Given the description of an element on the screen output the (x, y) to click on. 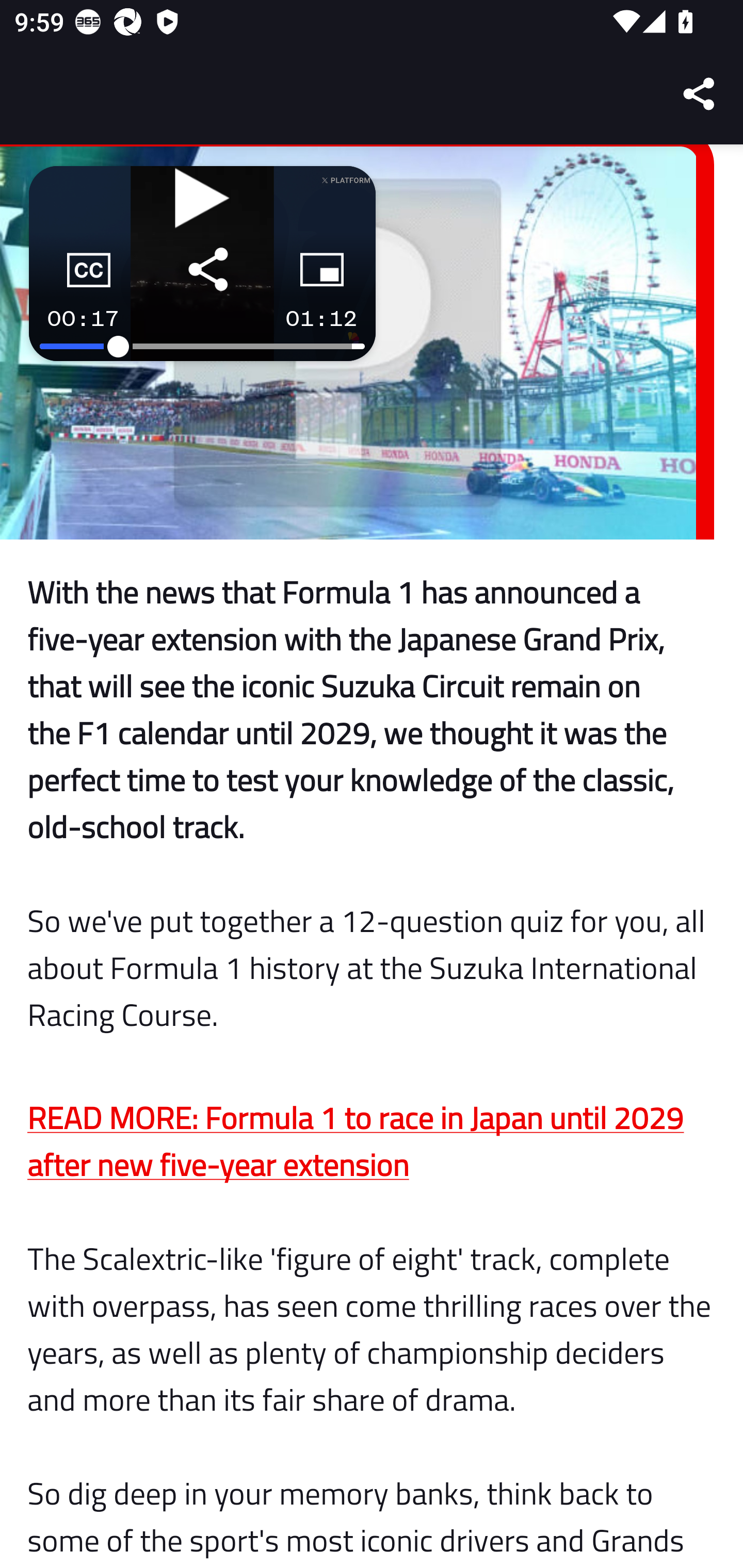
Share (699, 93)
